Given the description of an element on the screen output the (x, y) to click on. 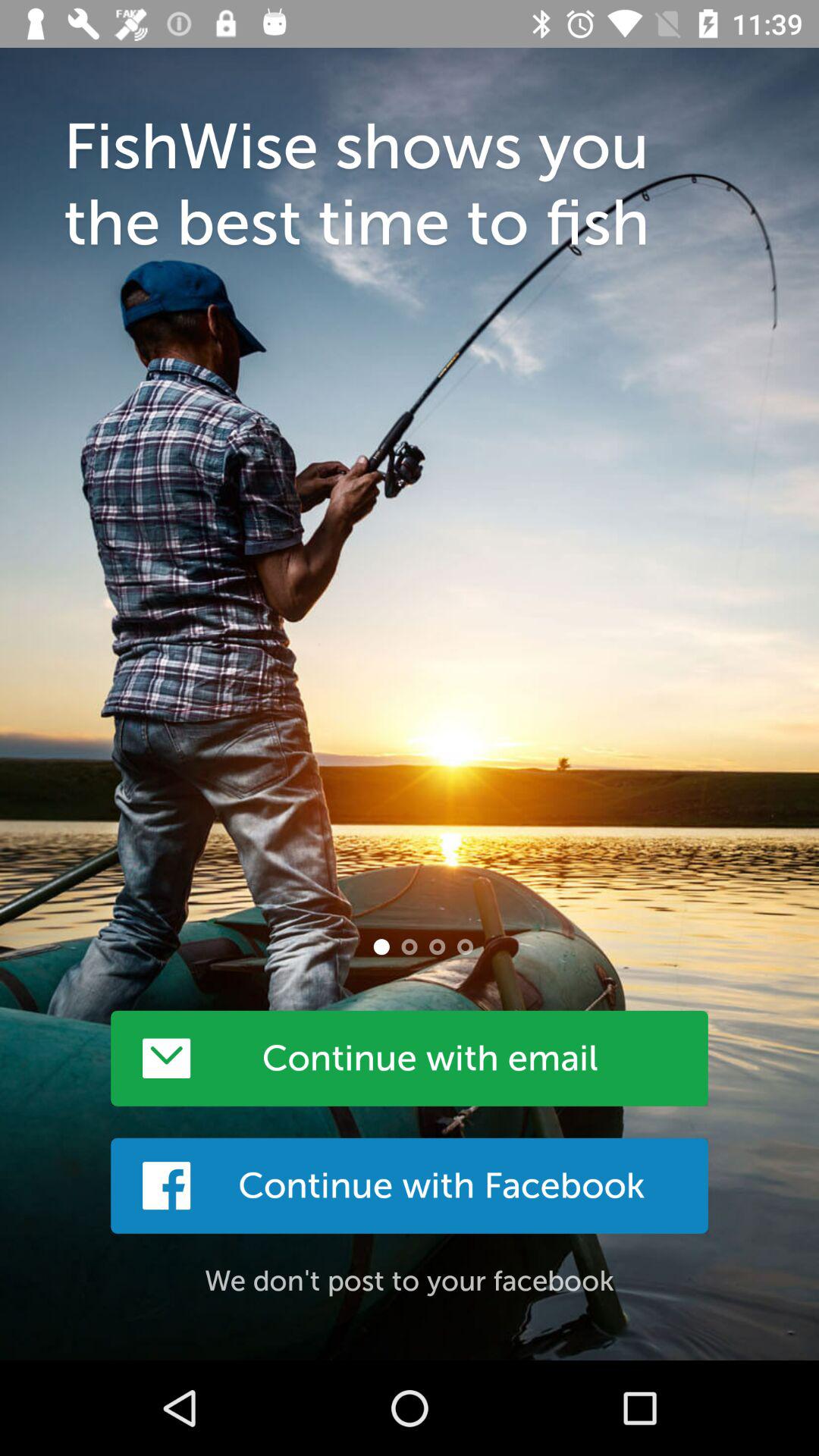
last picture (465, 946)
